Given the description of an element on the screen output the (x, y) to click on. 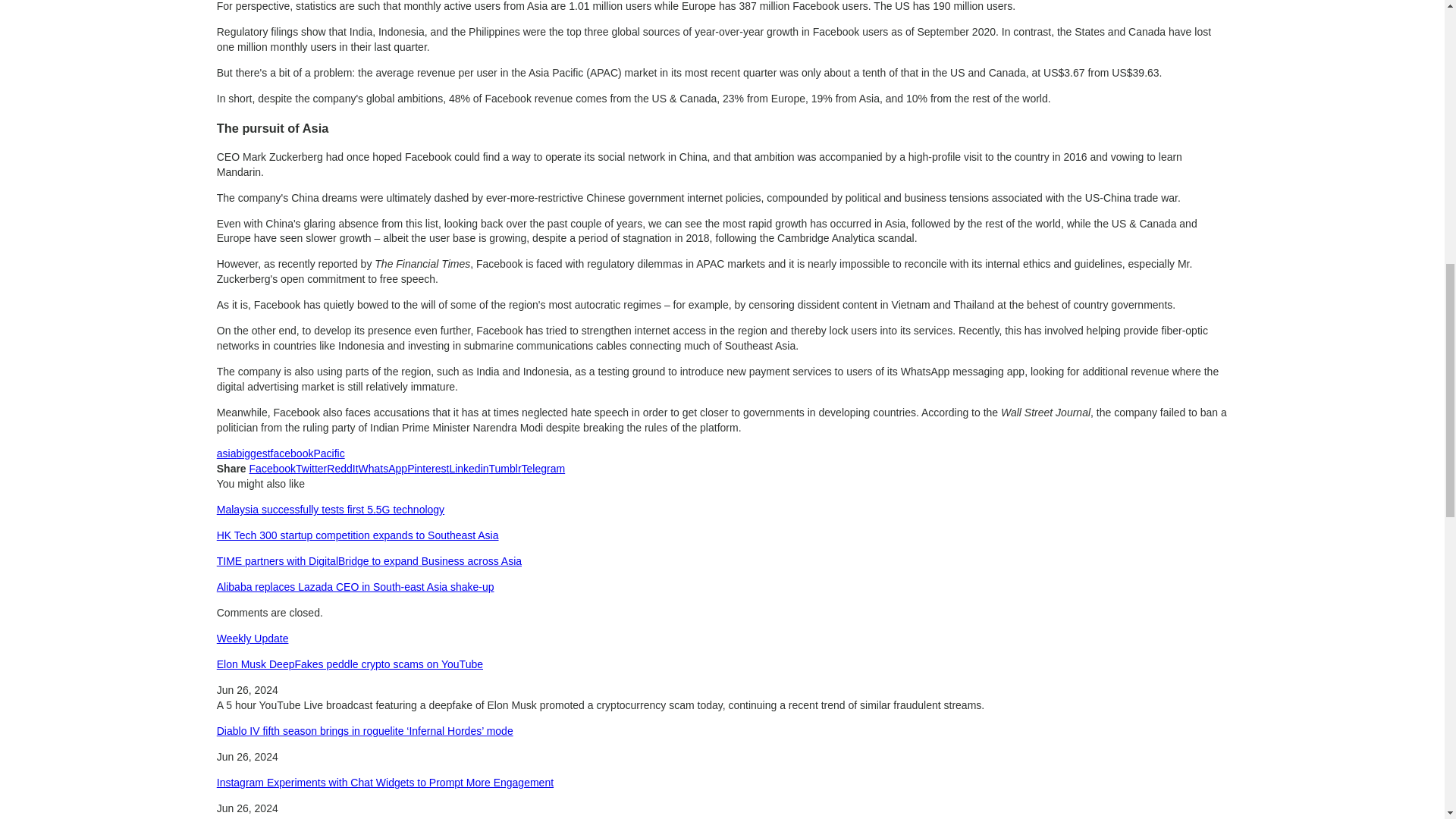
asia (225, 453)
Malaysia successfully tests first 5.5G technology (330, 509)
Pinterest (427, 468)
HK Tech 300 startup competition expands to Southeast Asia (357, 535)
Tumblr (505, 468)
Pacific (328, 453)
WhatsApp (382, 468)
facebook (292, 453)
ReddIt (342, 468)
Twitter (310, 468)
biggest (252, 453)
Facebook (271, 468)
Linkedin (467, 468)
Alibaba replaces Lazada CEO in South-east Asia shake-up (355, 586)
